Given the description of an element on the screen output the (x, y) to click on. 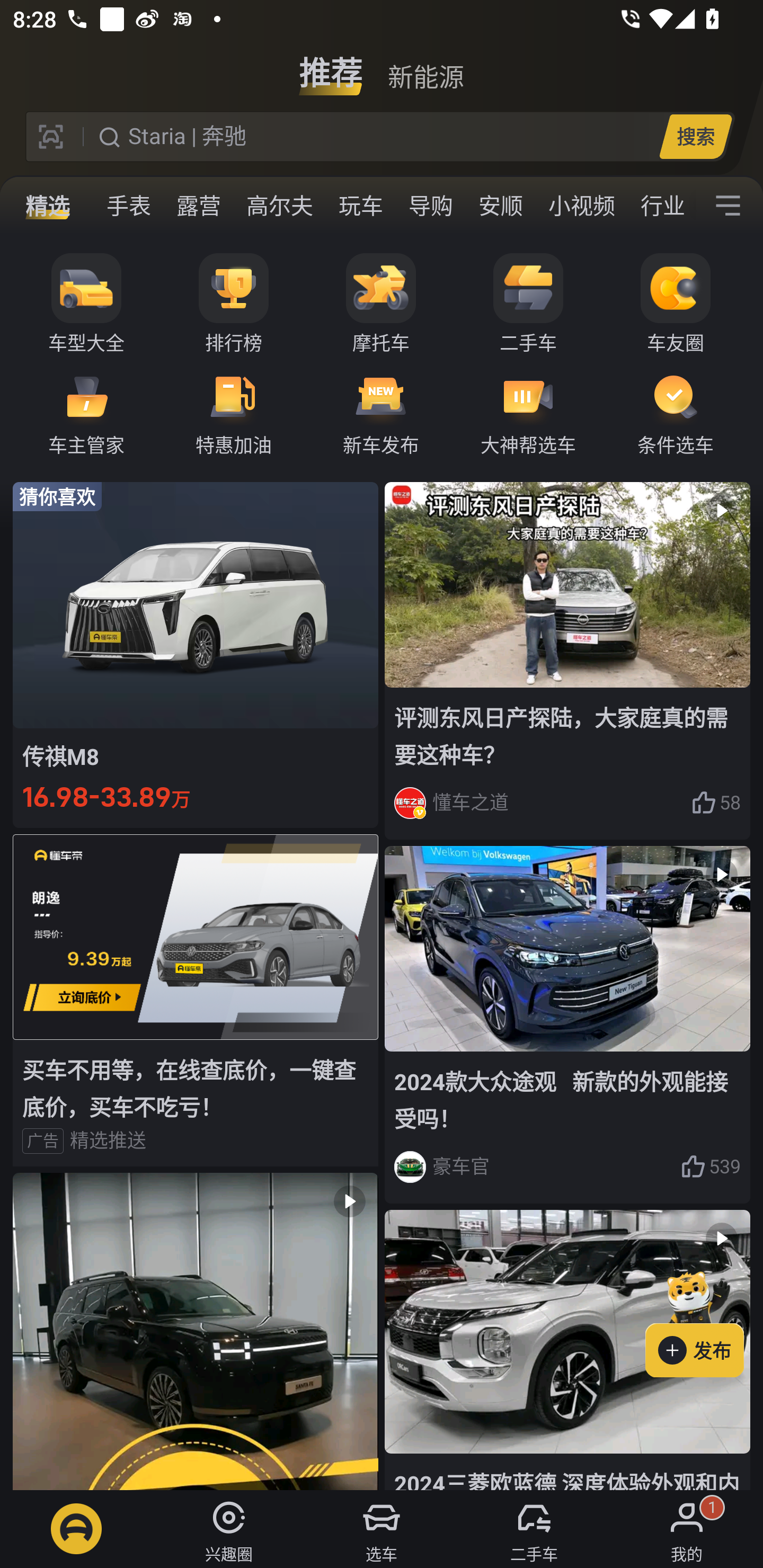
推荐 (330, 65)
新能源 (425, 65)
搜索 (695, 136)
手表 (128, 205)
露营 (198, 205)
高尔夫 (279, 205)
玩车 (360, 205)
导购 (430, 205)
安顺 (500, 205)
小视频 (581, 205)
行业 (661, 205)
 (727, 205)
精选 (47, 206)
车型大全 (86, 303)
排行榜 (233, 303)
摩托车 (380, 303)
二手车 (528, 303)
车友圈 (675, 303)
车主管家 (86, 412)
特惠加油 (233, 412)
新车发布 (380, 412)
大神帮选车 (528, 412)
条件选车 (675, 412)
猜你喜欢 传祺M8 16.98-33.89万 (195, 654)
 评测东风日产探陆，大家庭真的需要这种车？ 懂车之道 58 (567, 659)
58 (715, 802)
买车不用等，在线查底价，一键查底价，买车不吃亏！ 广告 精选推送 (195, 1000)
 2024款大众途观   新款的外观能接受吗！ 豪车官 539 (567, 1025)
539 (710, 1166)
 (195, 1330)
 2024三菱欧蓝德 深度体验外观和内饰 三菱真的要退出中国市场了？ (567, 1349)
发布 (704, 1320)
 兴趣圈 (228, 1528)
 选车 (381, 1528)
 二手车 (533, 1528)
 我的 (686, 1528)
